Given the description of an element on the screen output the (x, y) to click on. 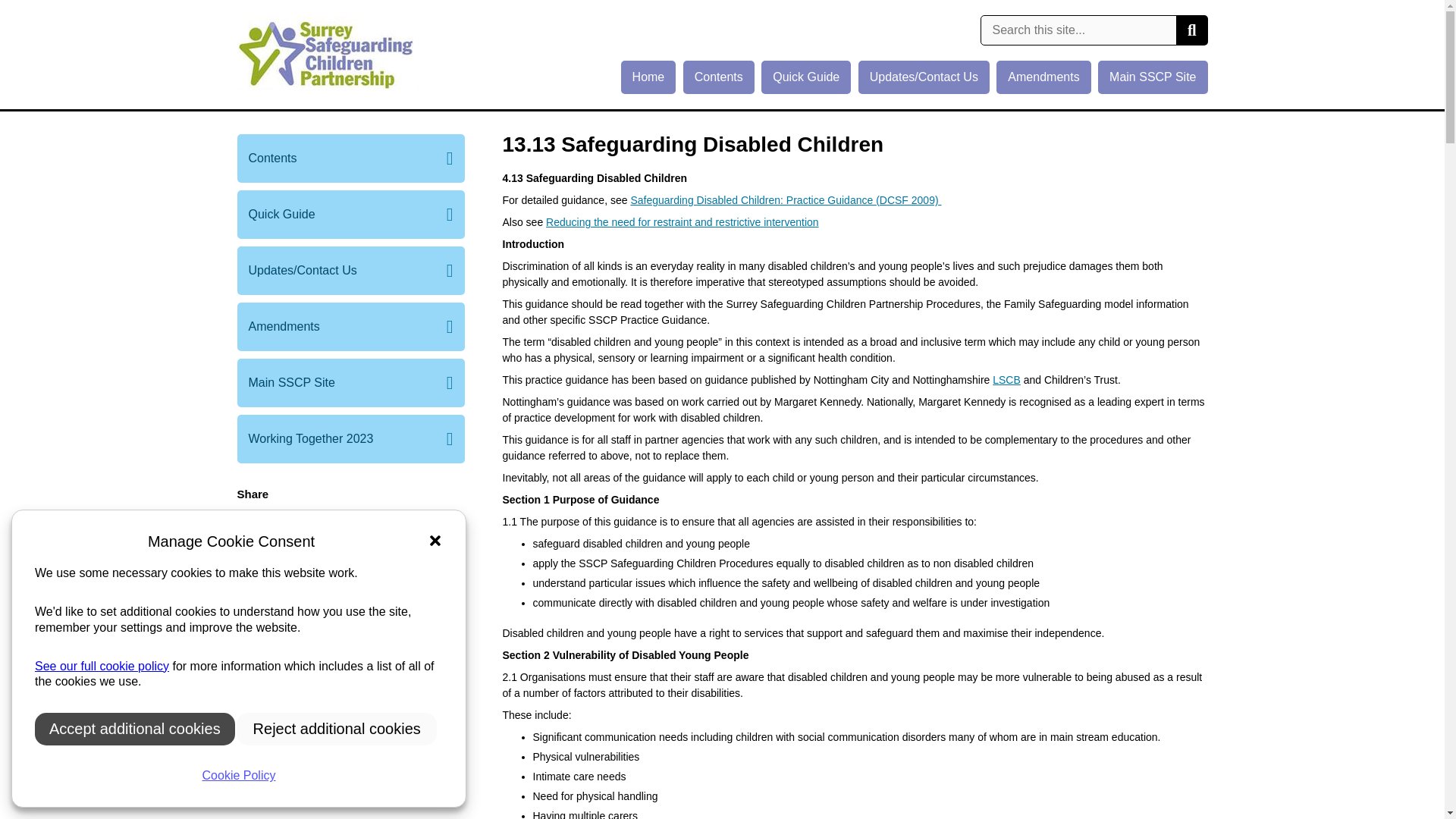
Reject additional cookies (335, 728)
Cookie Policy (238, 775)
Quick Guide (349, 214)
Cookie Policy (101, 666)
Quick Guide (805, 77)
Accept additional cookies (134, 728)
Contents (349, 158)
Launch Quick Guide (350, 568)
Working Together 2023 (349, 438)
Amendments (1042, 77)
Reducing the need for restraint and restrictive intervention (682, 222)
Contents (718, 77)
Home (649, 77)
Main SSCP Site (349, 382)
Main SSCP Site (1152, 77)
